Given the description of an element on the screen output the (x, y) to click on. 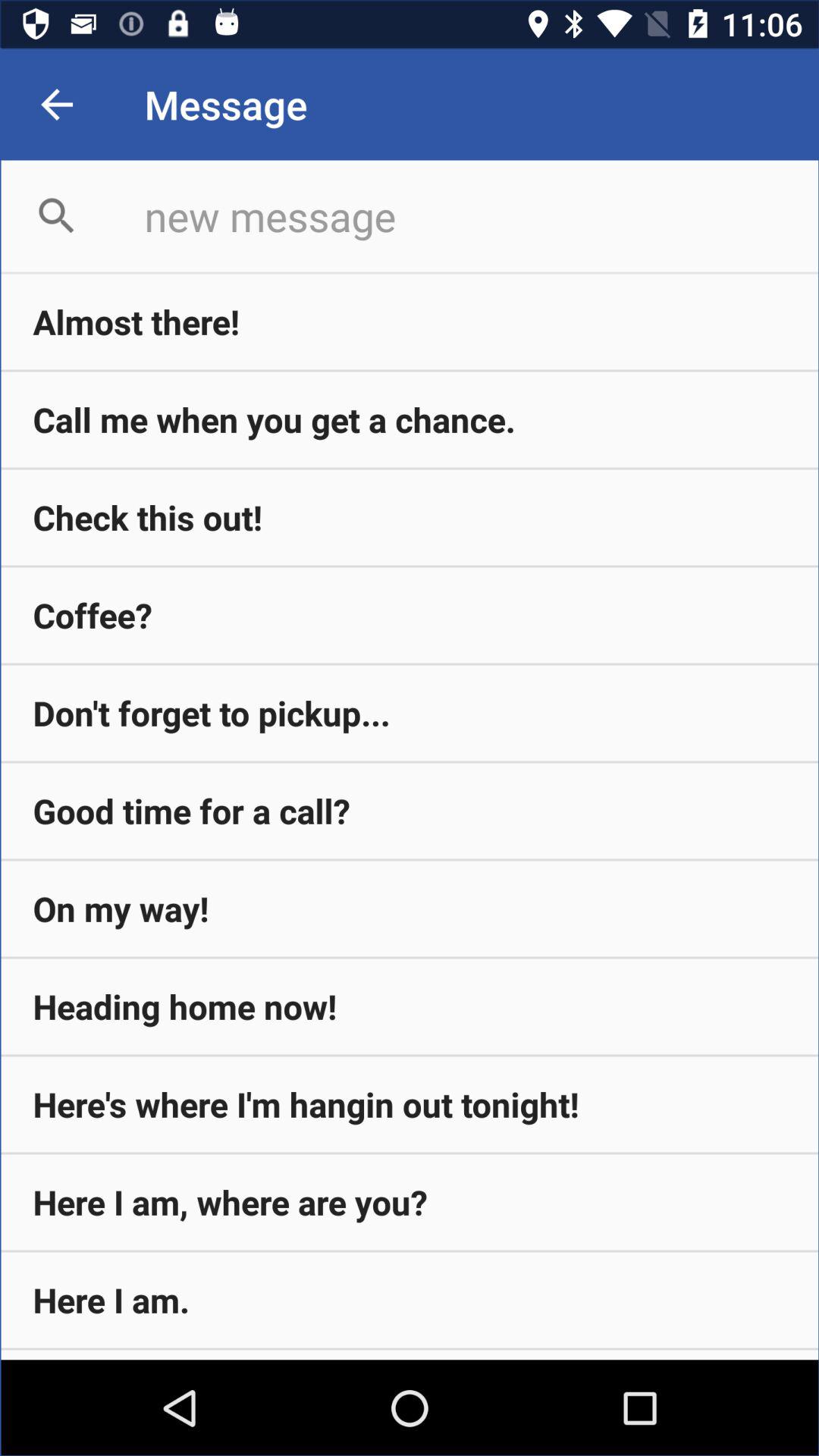
flip to hey look where (409, 1354)
